Given the description of an element on the screen output the (x, y) to click on. 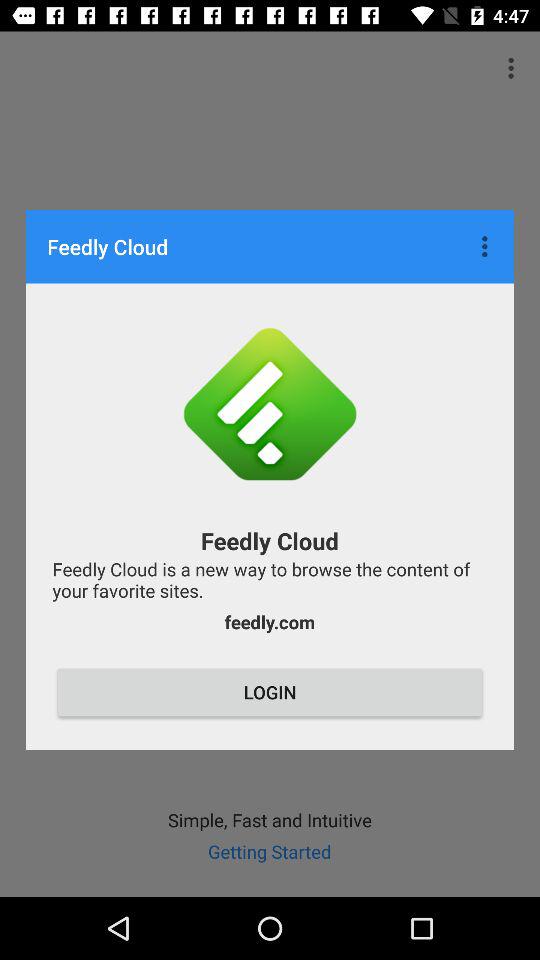
click app next to the feedly cloud item (487, 246)
